Given the description of an element on the screen output the (x, y) to click on. 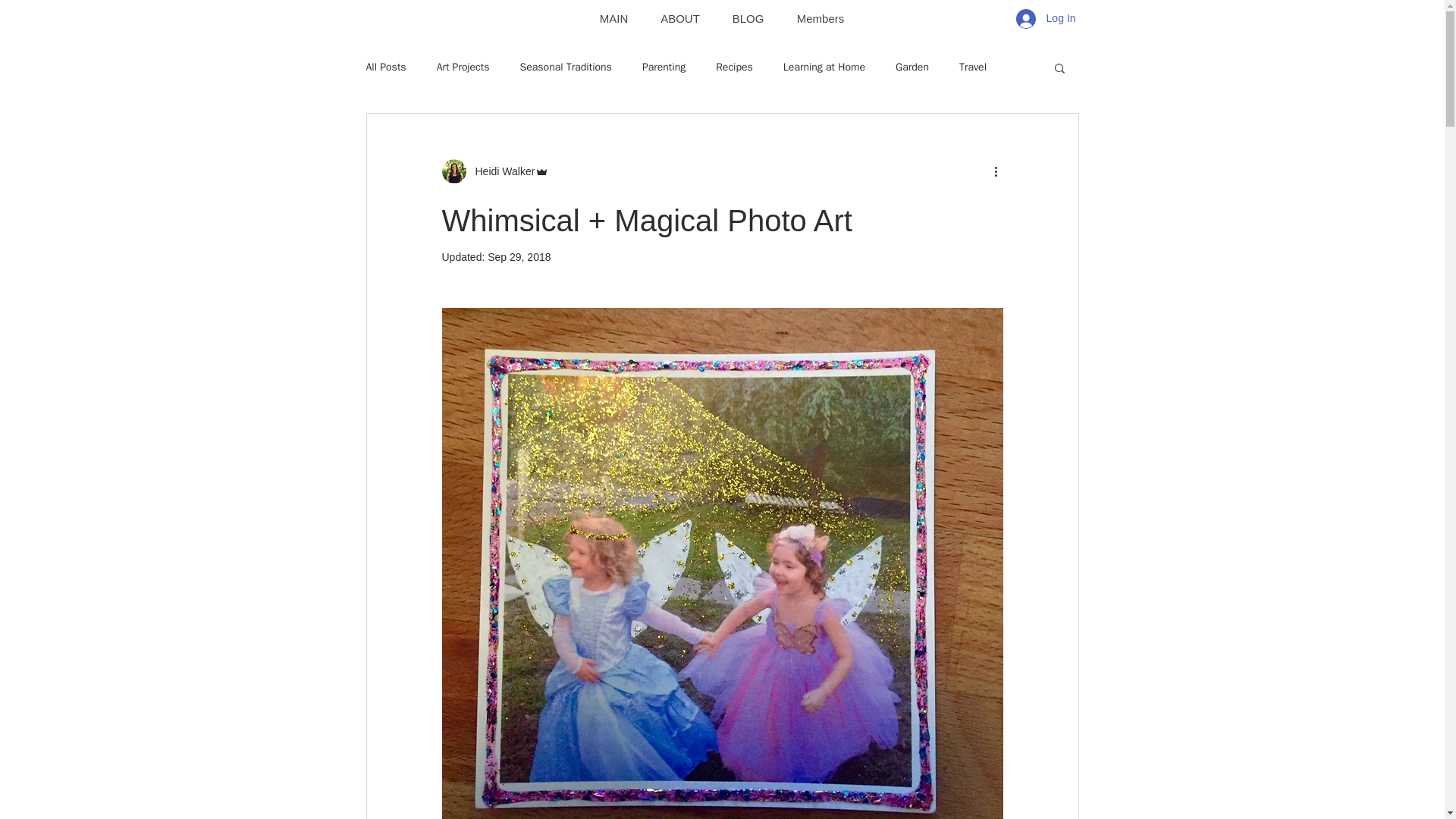
Learning at Home (823, 67)
Heidi Walker (499, 171)
Parenting (663, 67)
Log In (1046, 18)
Travel (973, 67)
MAIN (614, 18)
All Posts (385, 67)
Garden (911, 67)
Members (819, 18)
BLOG (748, 18)
